Given the description of an element on the screen output the (x, y) to click on. 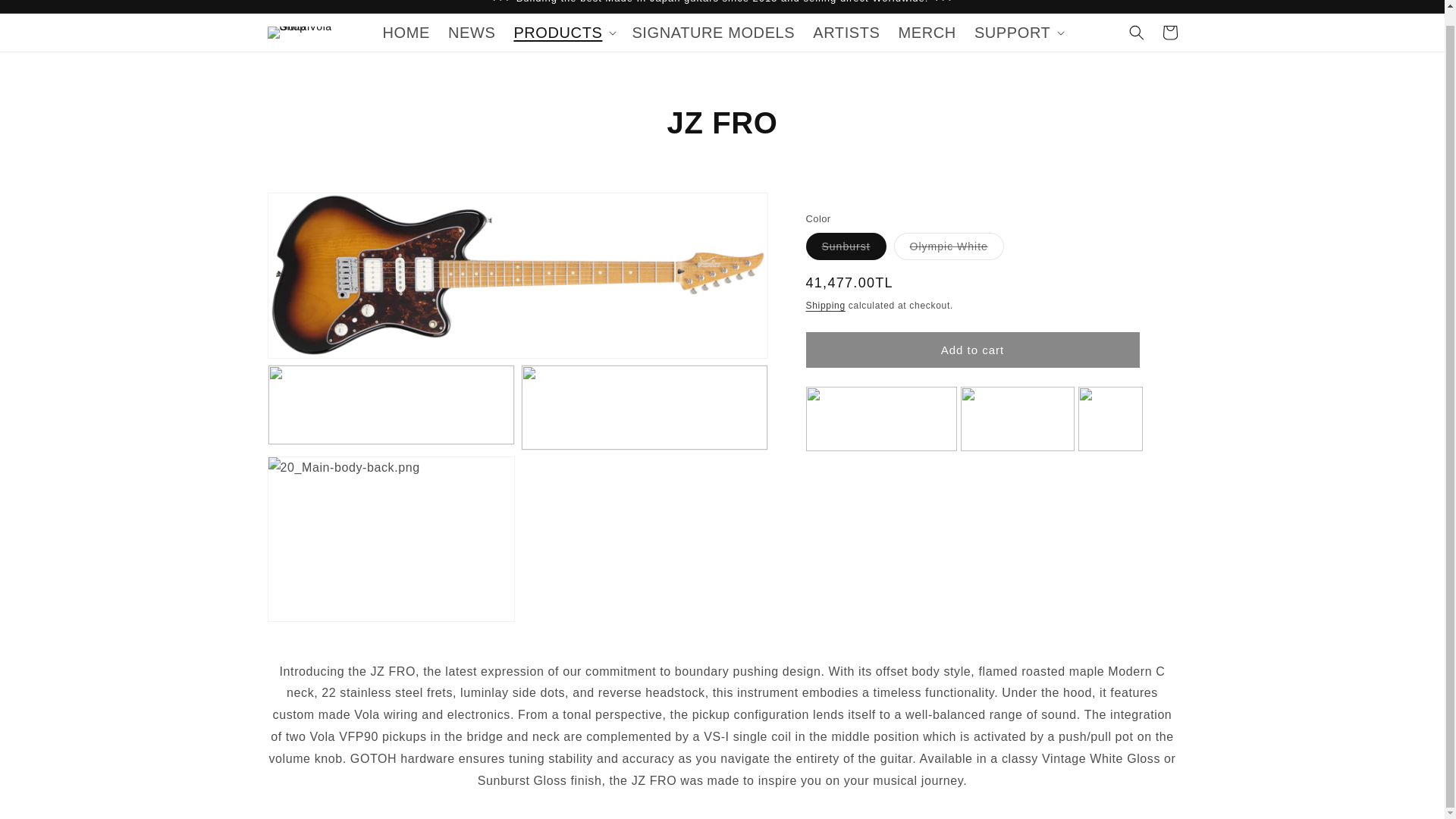
NEWS (471, 32)
HOME (406, 32)
MERCH (927, 32)
SIGNATURE MODELS (713, 32)
ARTISTS (845, 32)
Skip to content (45, 9)
